Given the description of an element on the screen output the (x, y) to click on. 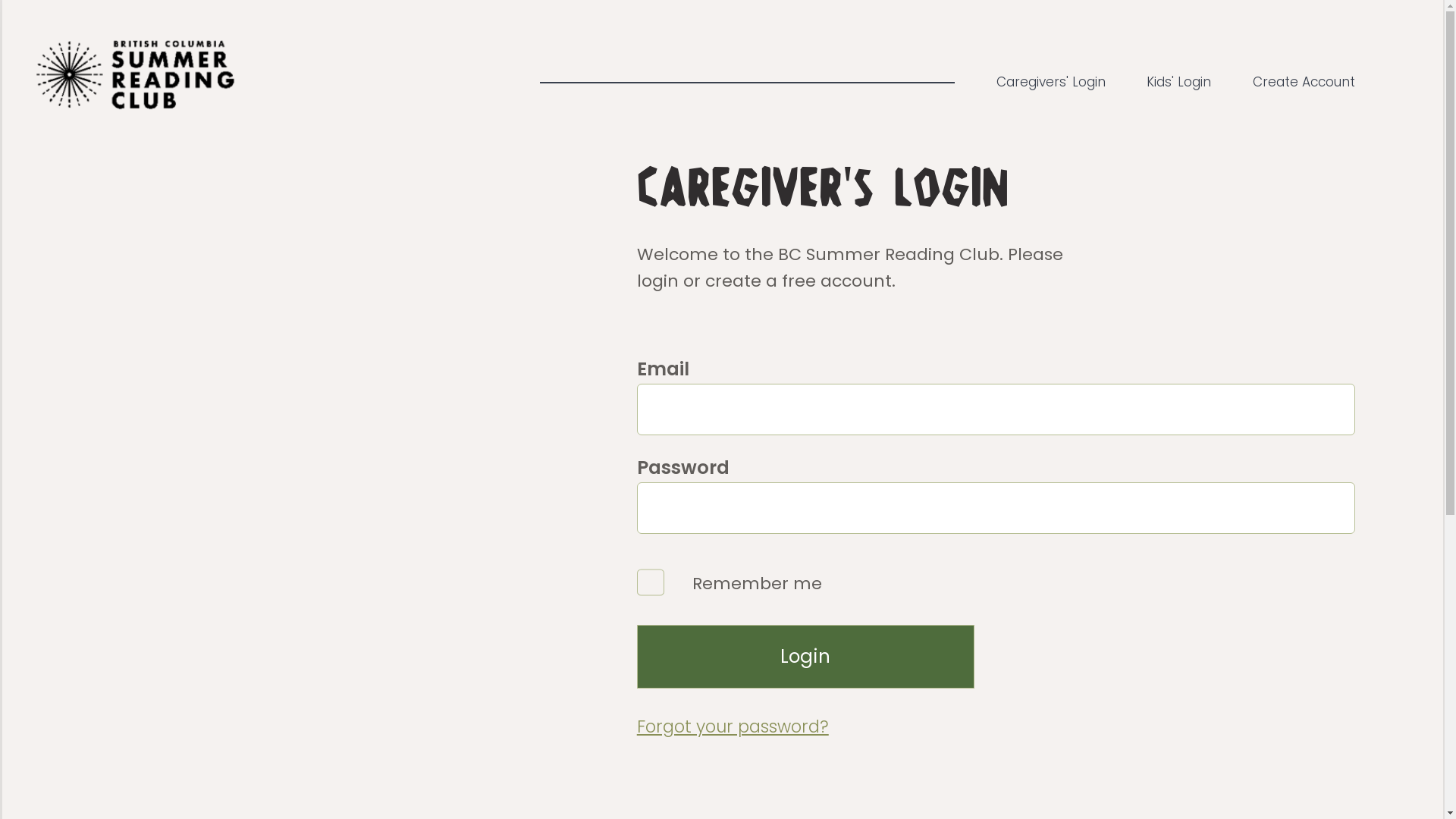
Forgot your password? Element type: text (996, 727)
Caregivers' Login Element type: text (1050, 81)
Kids' Login Element type: text (1178, 81)
Create Account Element type: text (1303, 81)
Login Element type: text (805, 655)
